Given the description of an element on the screen output the (x, y) to click on. 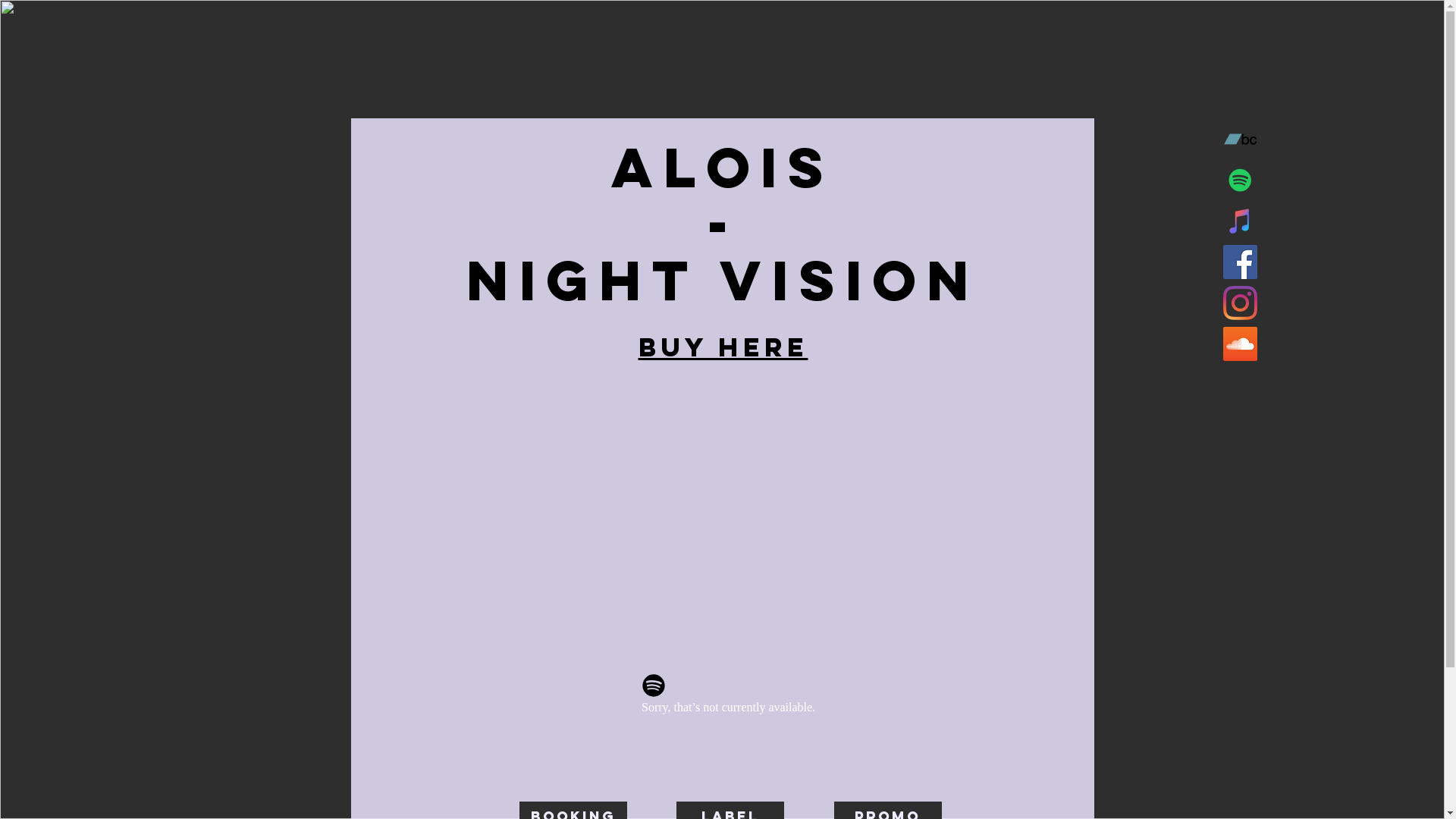
Spotify Player Element type: hover (730, 697)
Spotify Player Element type: hover (730, 698)
BUY HERE Element type: text (723, 348)
